Given the description of an element on the screen output the (x, y) to click on. 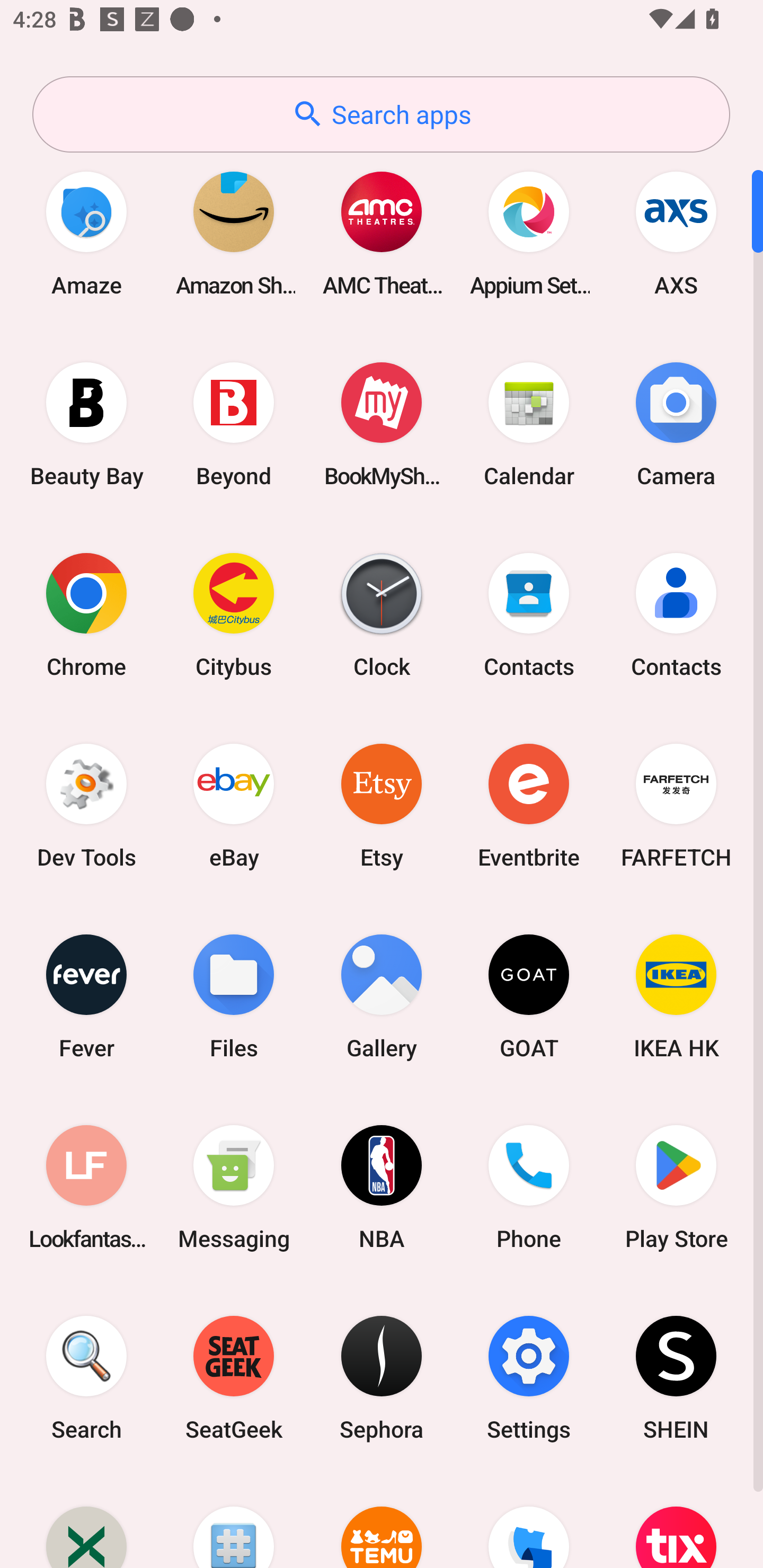
  Search apps (381, 114)
Amaze (86, 233)
Amazon Shopping (233, 233)
AMC Theatres (381, 233)
Appium Settings (528, 233)
AXS (676, 233)
Beauty Bay (86, 424)
Beyond (233, 424)
BookMyShow (381, 424)
Calendar (528, 424)
Camera (676, 424)
Chrome (86, 614)
Citybus (233, 614)
Clock (381, 614)
Contacts (528, 614)
Contacts (676, 614)
Dev Tools (86, 805)
eBay (233, 805)
Etsy (381, 805)
Eventbrite (528, 805)
FARFETCH (676, 805)
Fever (86, 996)
Files (233, 996)
Gallery (381, 996)
GOAT (528, 996)
IKEA HK (676, 996)
Lookfantastic (86, 1186)
Messaging (233, 1186)
NBA (381, 1186)
Phone (528, 1186)
Play Store (676, 1186)
Search (86, 1377)
SeatGeek (233, 1377)
Sephora (381, 1377)
Settings (528, 1377)
SHEIN (676, 1377)
StockX (86, 1520)
Superuser (233, 1520)
Temu (381, 1520)
TickPick (528, 1520)
TodayTix (676, 1520)
